Given the description of an element on the screen output the (x, y) to click on. 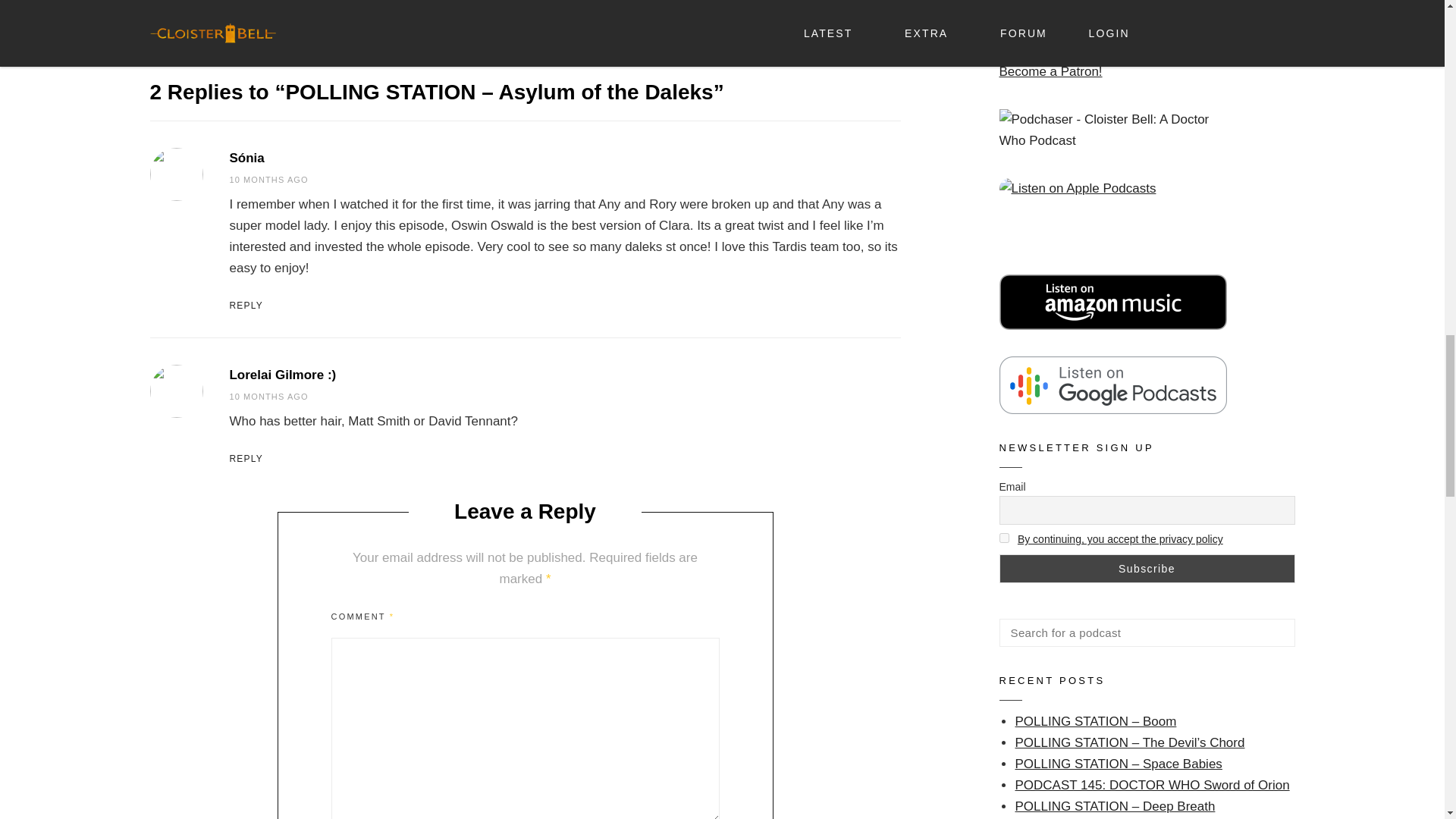
10 MONTHS AGO (267, 396)
REPLY (563, 305)
Subscribe (1146, 568)
REPLY (563, 458)
10 MONTHS AGO (267, 179)
on (1003, 537)
